Given the description of an element on the screen output the (x, y) to click on. 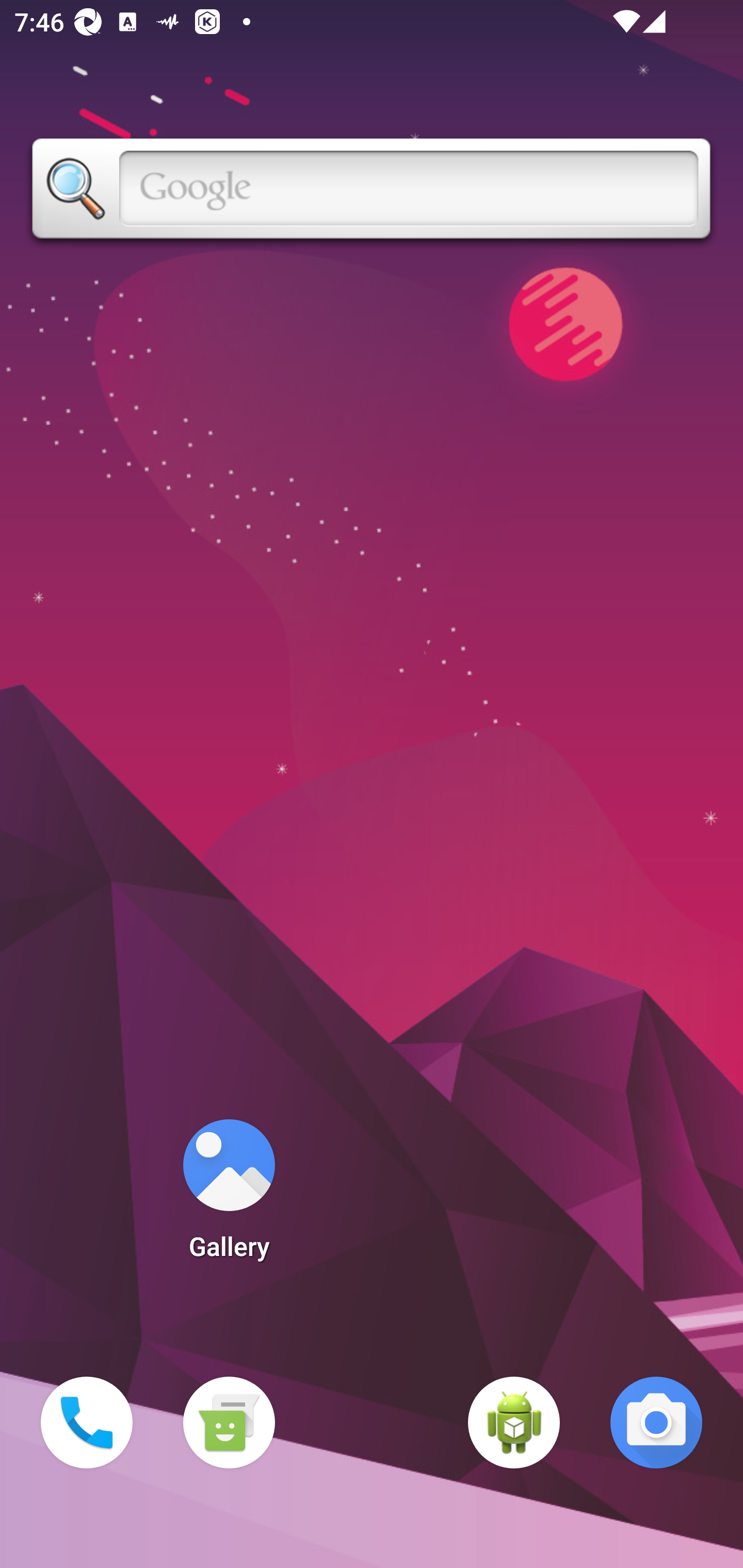
Gallery (228, 1195)
Phone (86, 1422)
Messaging (228, 1422)
WebView Browser Tester (513, 1422)
Camera (656, 1422)
